Given the description of an element on the screen output the (x, y) to click on. 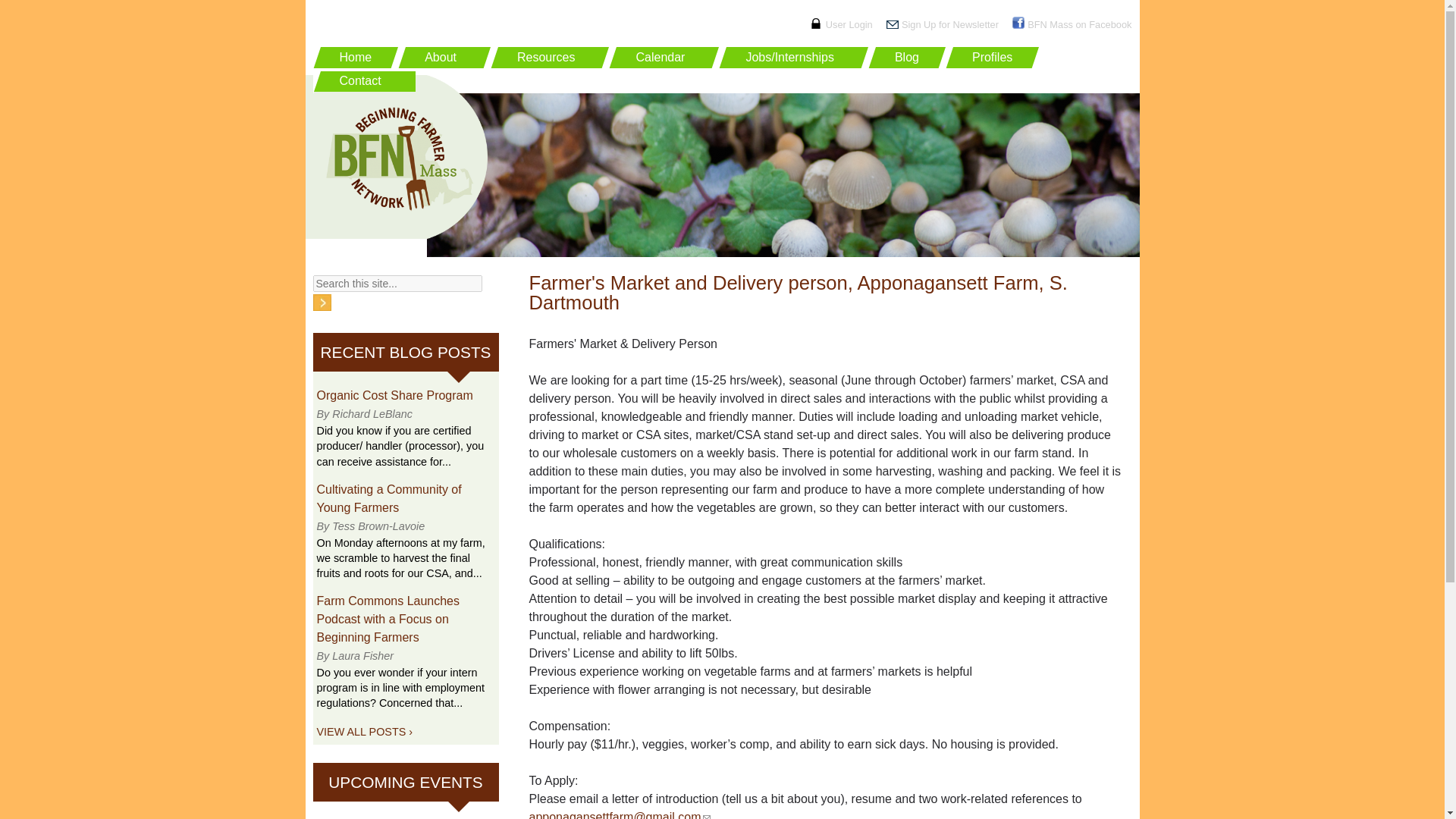
Organic Cost Share Program (395, 395)
Sign Up for Newsletter (949, 24)
User Login (848, 24)
Blog (907, 56)
BFN Mass on Facebook (1079, 24)
About (443, 56)
Calendar (663, 56)
Enter the terms you wish to search for. (397, 283)
Profiles (992, 56)
